Given the description of an element on the screen output the (x, y) to click on. 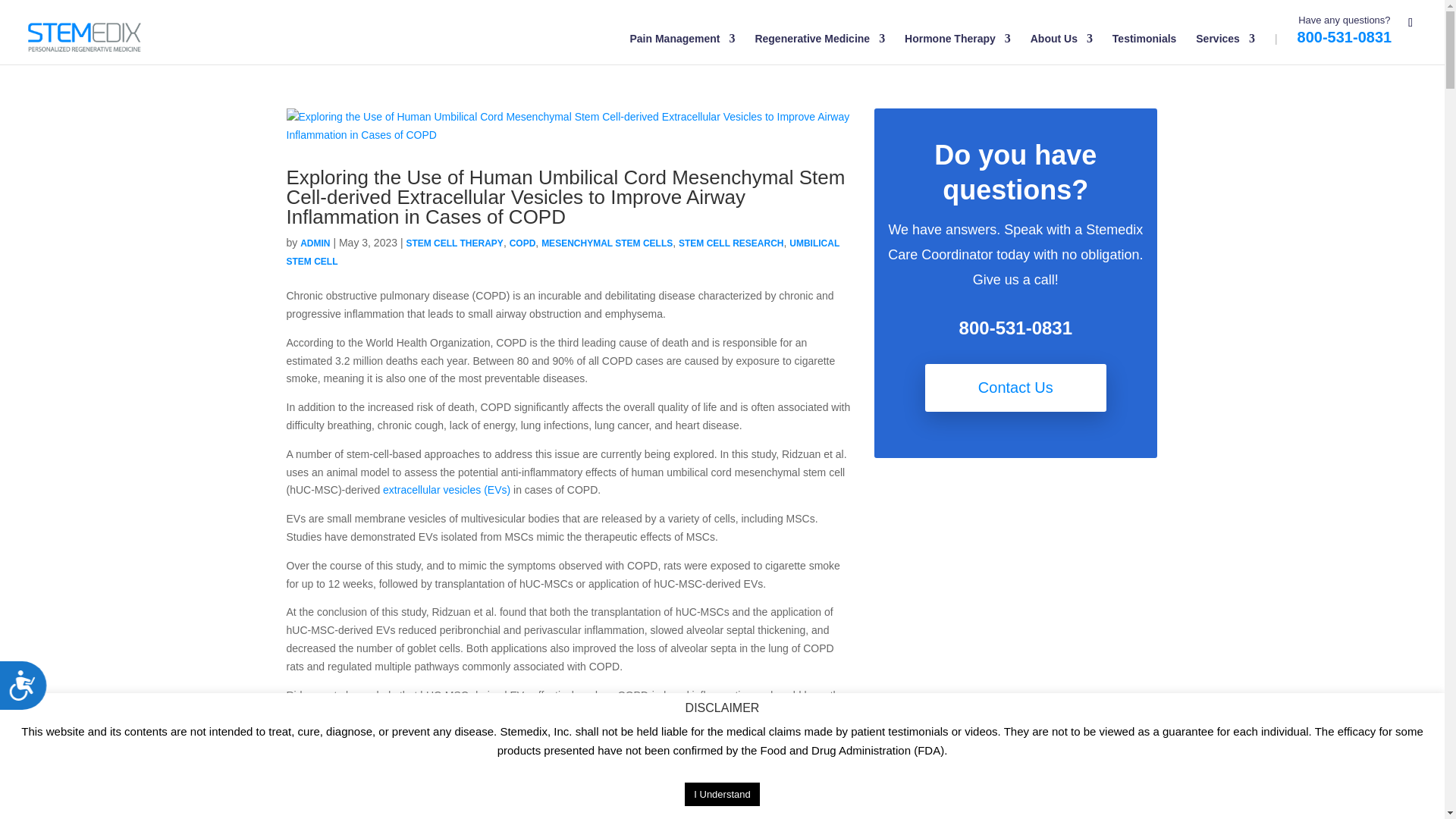
Regenerative Medicine (819, 48)
Posts by admin (314, 243)
Accessibility (29, 690)
Pain Management (681, 48)
